Given the description of an element on the screen output the (x, y) to click on. 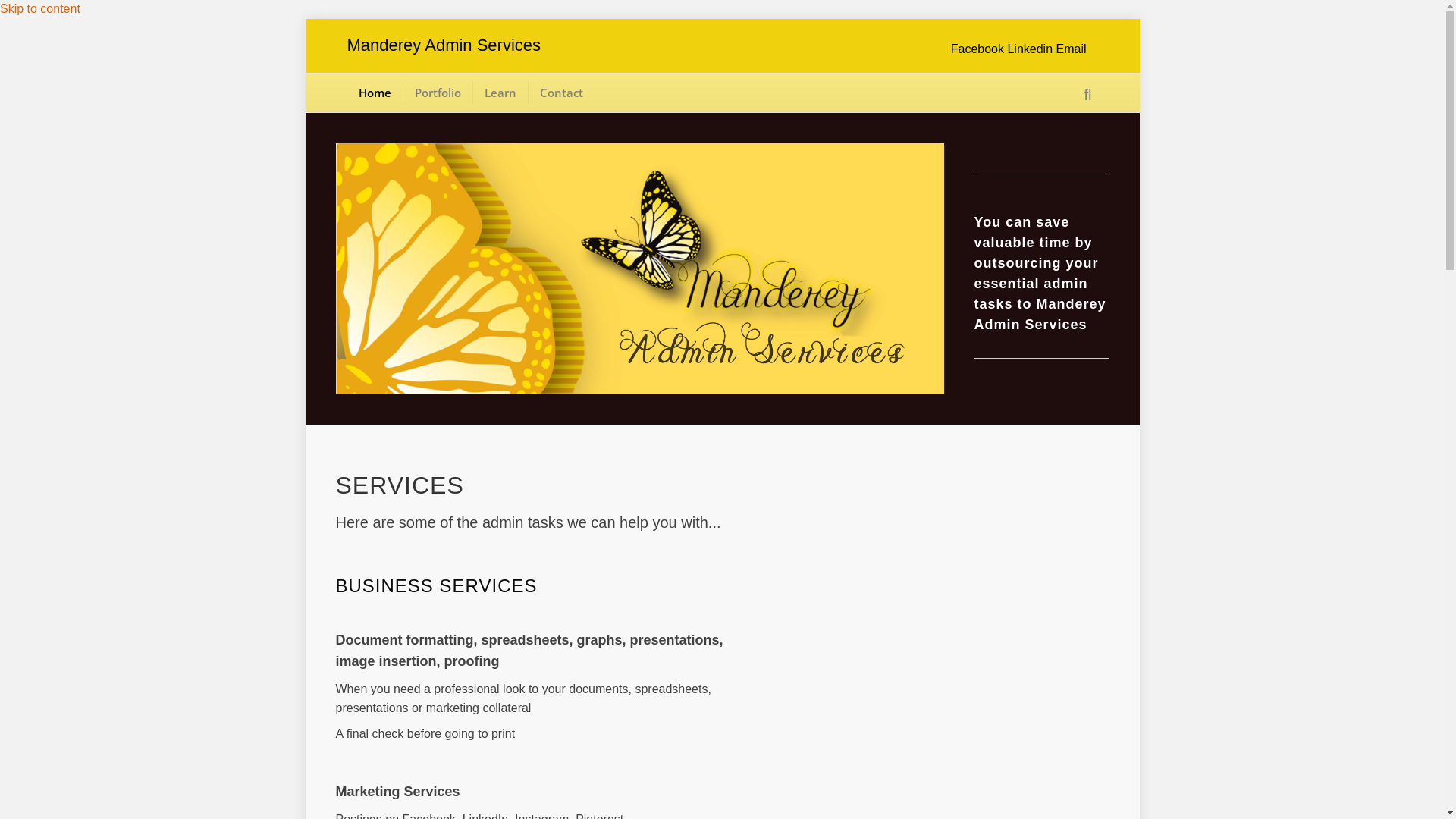
Manderey Home Page Slider Element type: hover (639, 269)
Facebook Element type: text (978, 48)
Portfolio Element type: text (438, 92)
Linkedin Element type: text (1031, 48)
Skip to content Element type: text (40, 8)
Home Element type: text (375, 92)
SERVICES Element type: text (399, 484)
Learn Element type: text (500, 92)
Contact Element type: text (560, 92)
Manderey Admin Services Element type: text (523, 45)
Email Element type: text (1070, 48)
